Given the description of an element on the screen output the (x, y) to click on. 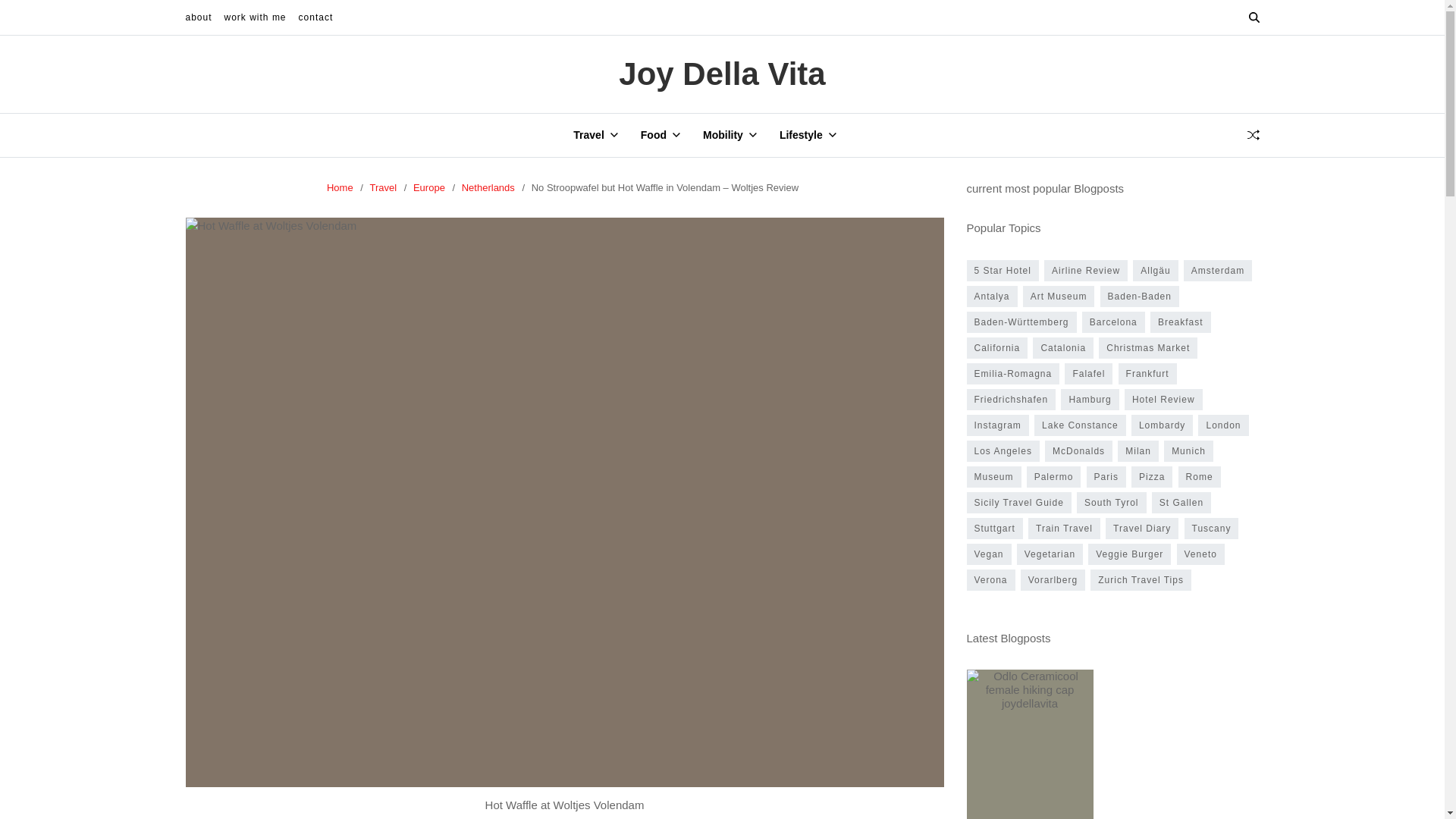
Joy Della Vita (721, 74)
work with me (255, 17)
Search (1216, 70)
Travel (595, 135)
contact (315, 17)
Random Article (1252, 134)
about (197, 17)
